Given the description of an element on the screen output the (x, y) to click on. 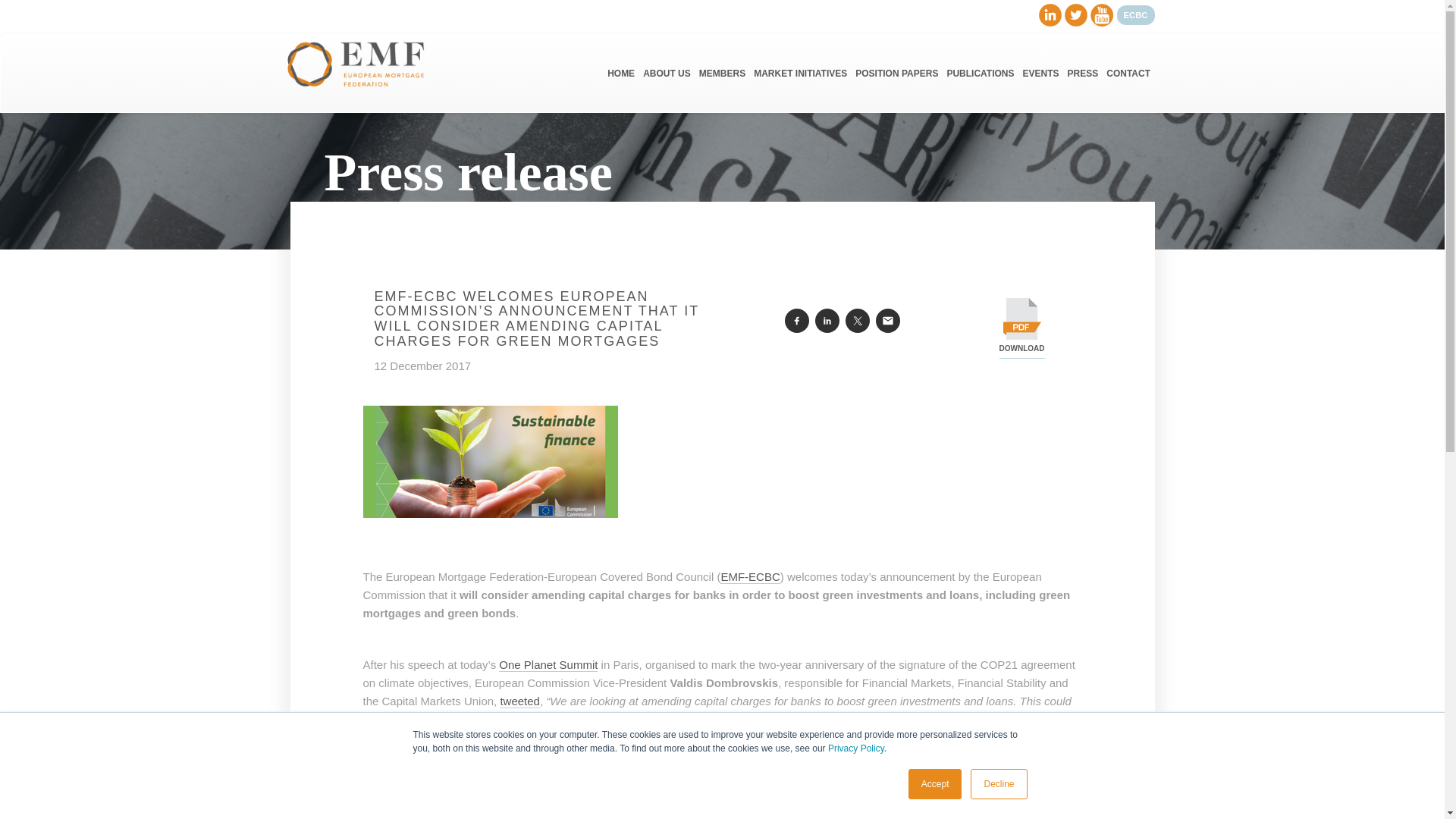
MARKET INITIATIVES (800, 73)
PRESS (1082, 73)
tweeted (519, 701)
PUBLICATIONS (979, 73)
Accept (935, 784)
Privacy Policy (855, 747)
Twitter (1075, 13)
One Planet Summit (547, 664)
HOME (621, 73)
Linkedin (1050, 13)
POSITION PAPERS (896, 73)
ABOUT US (667, 73)
CONTACT (1128, 73)
EMF-ECBC (749, 576)
EeMAP (745, 789)
